Given the description of an element on the screen output the (x, y) to click on. 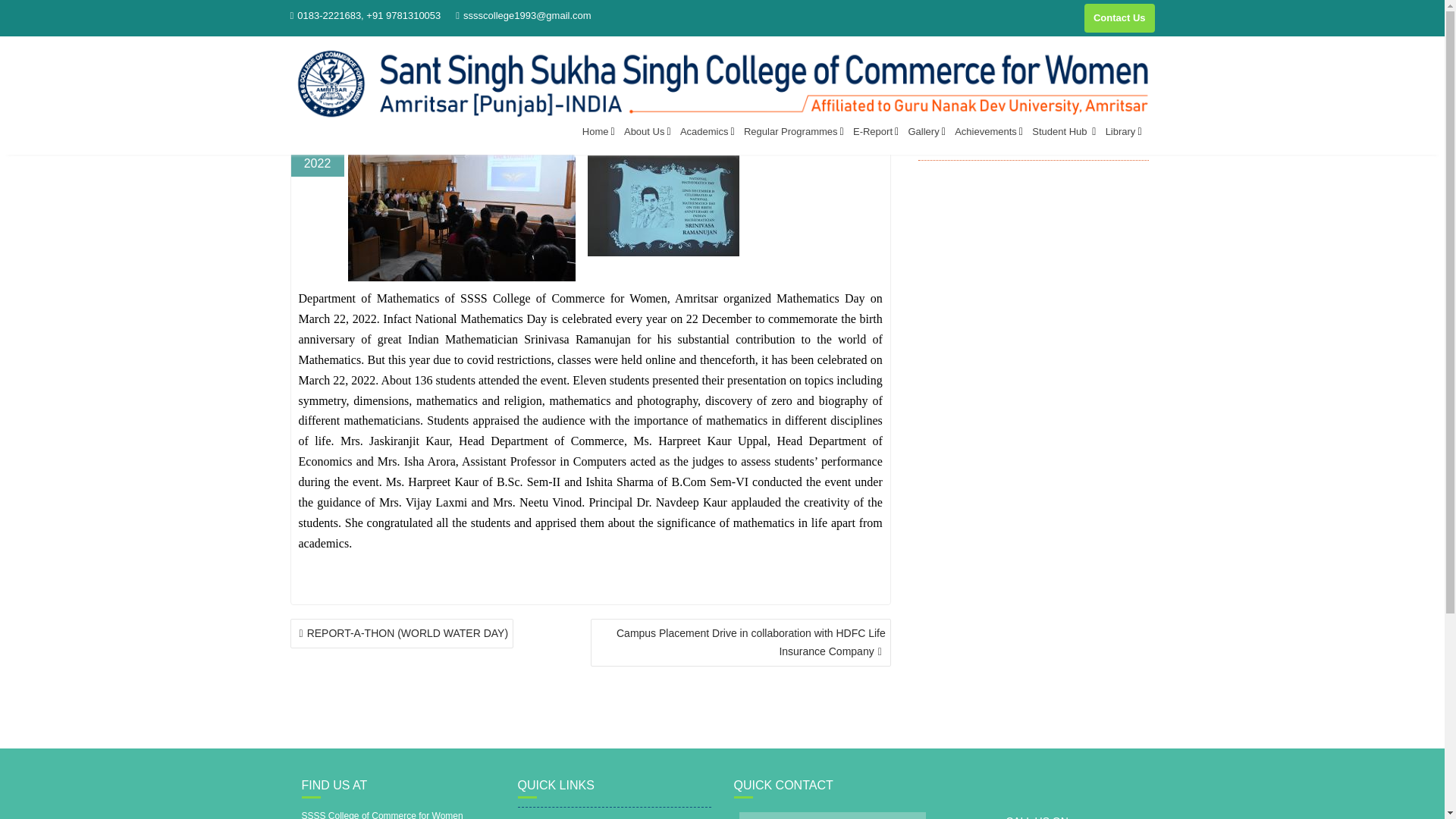
Home (595, 131)
Contact Us (1119, 18)
About Us (645, 131)
